Given the description of an element on the screen output the (x, y) to click on. 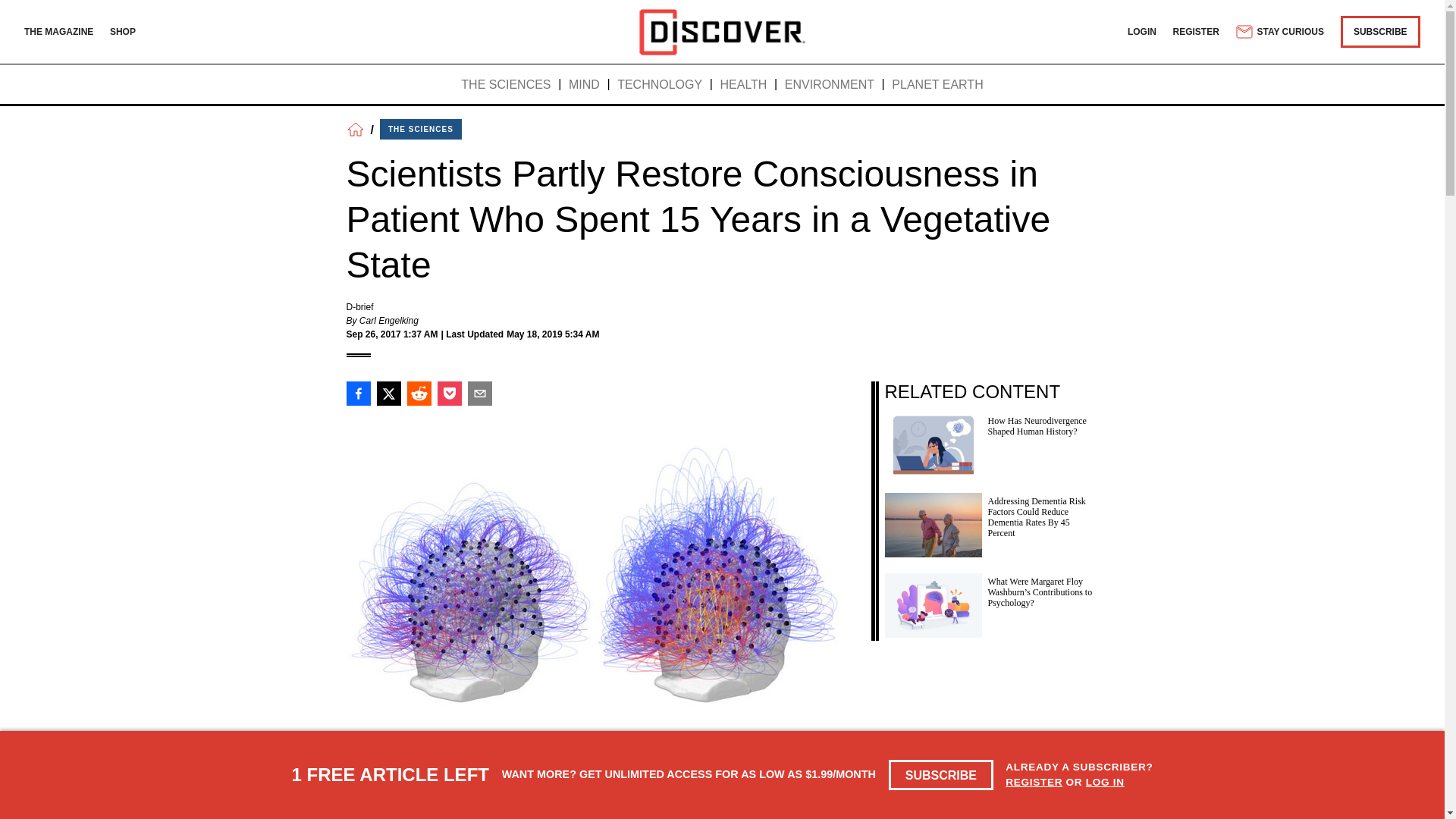
THE SCIENCES (505, 84)
How Has Neurodivergence Shaped Human History? (990, 443)
SUBSCRIBE (1380, 31)
D-brief (359, 307)
MIND (584, 84)
HEALTH (743, 84)
SUBSCRIBE (941, 775)
LOG IN (1105, 781)
LOGIN (1141, 31)
REGISTER (1034, 781)
